Given the description of an element on the screen output the (x, y) to click on. 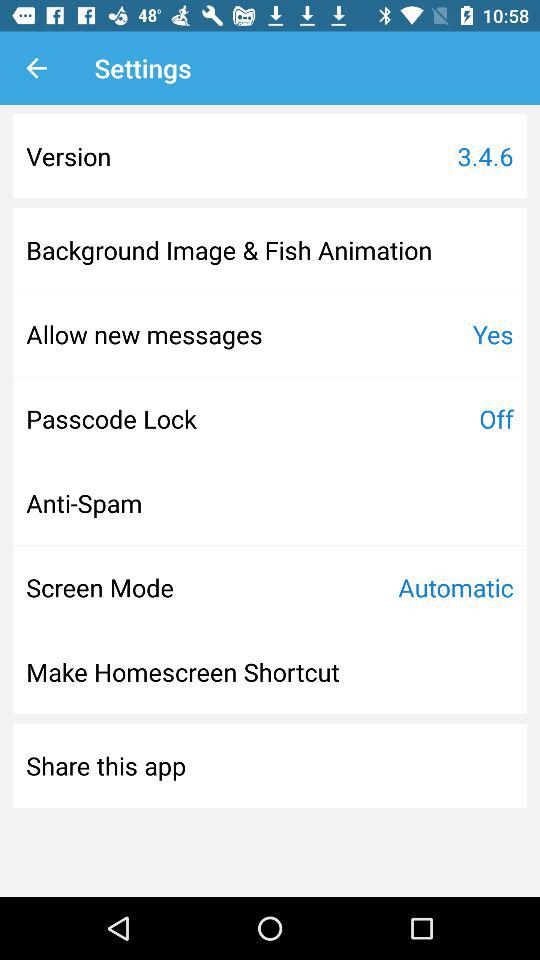
turn off icon to the right of the version (485, 156)
